Given the description of an element on the screen output the (x, y) to click on. 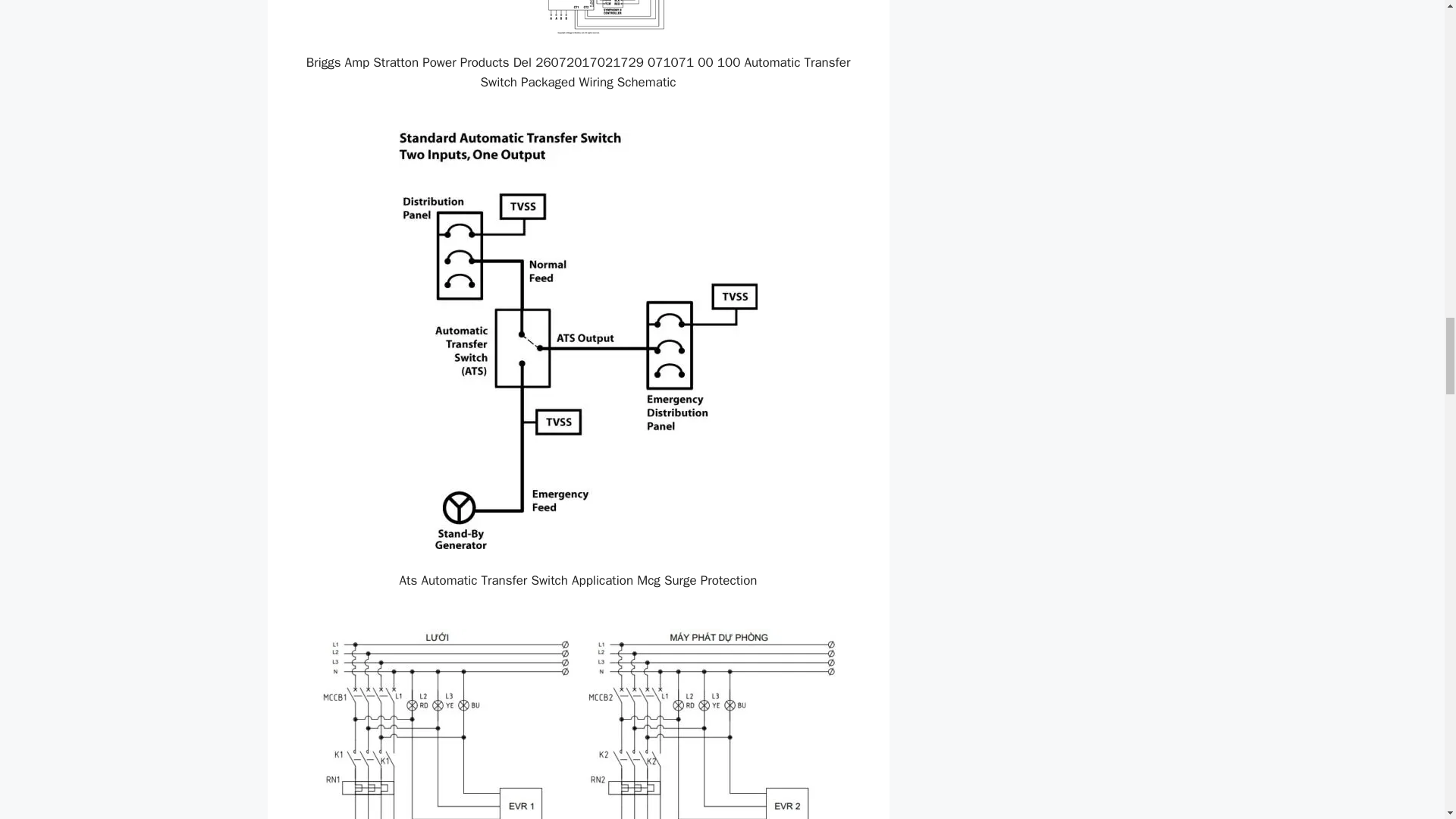
3 Phase Automatic Transfer Switch Ats Wiring Diagram Manual (577, 723)
